Given the description of an element on the screen output the (x, y) to click on. 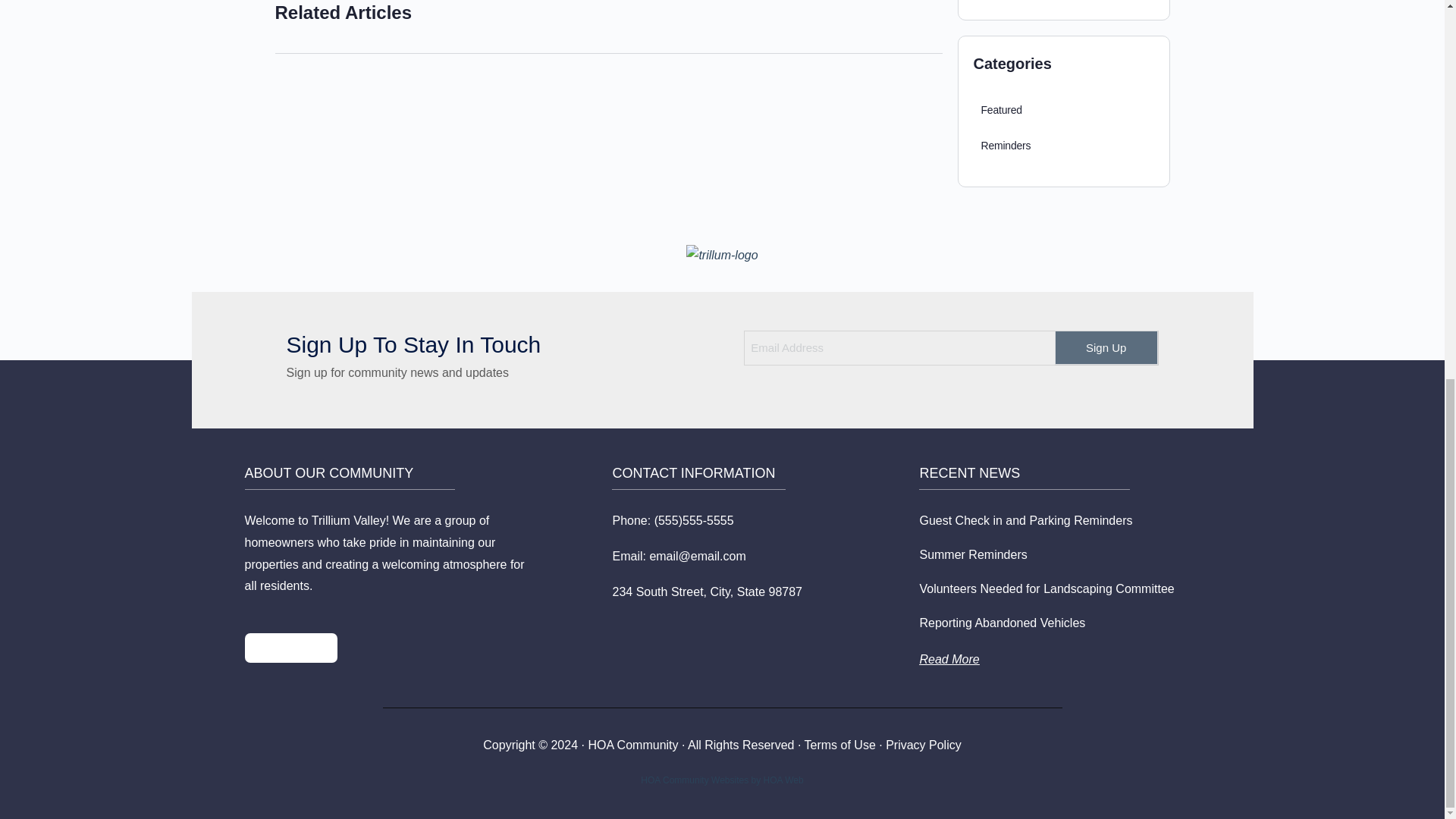
Featured (1001, 109)
trillum-logo (721, 254)
Reminders (1006, 145)
Sign Up (1105, 347)
